Given the description of an element on the screen output the (x, y) to click on. 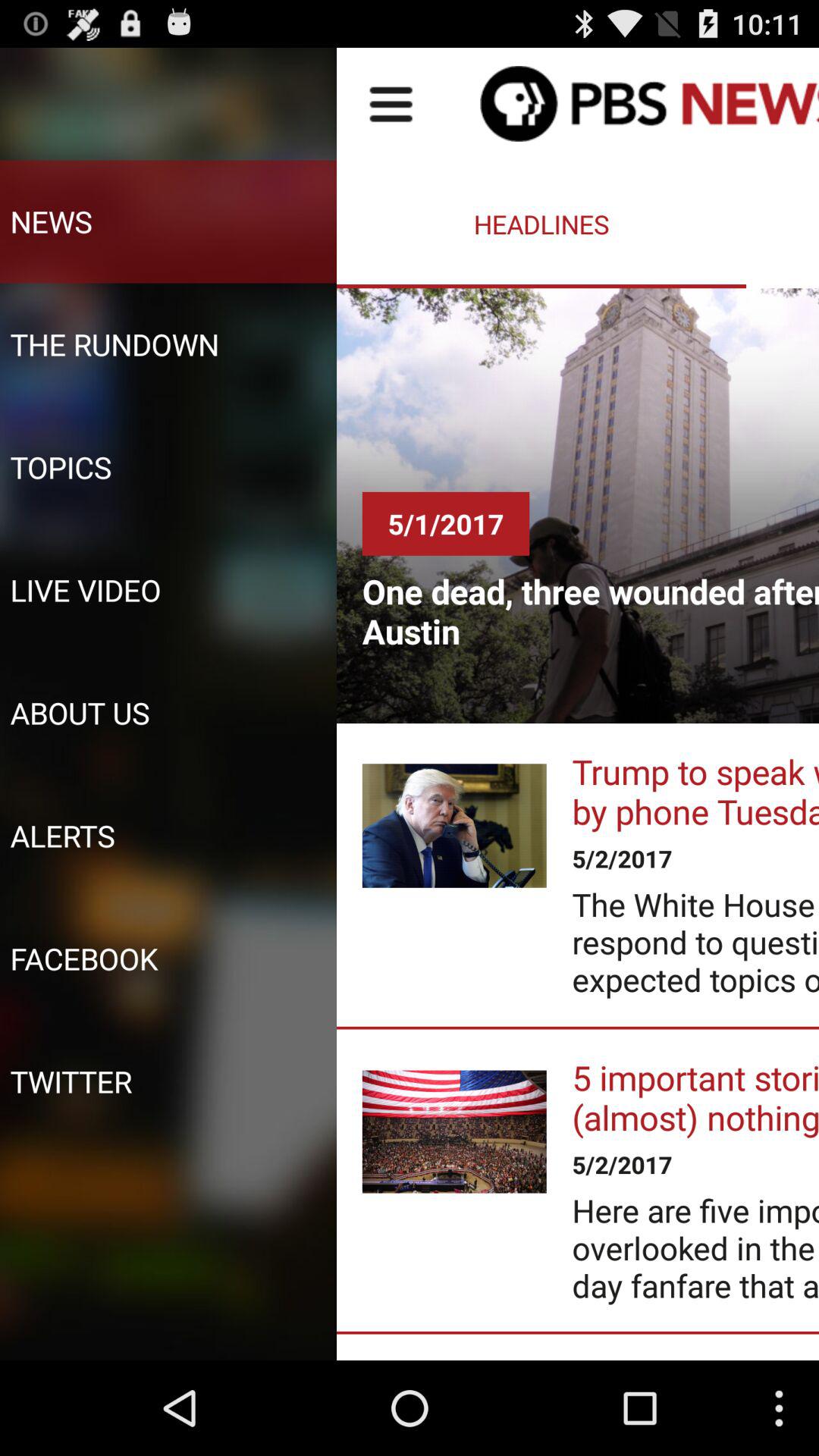
click on the icon left to pbs news (390, 104)
